Given the description of an element on the screen output the (x, y) to click on. 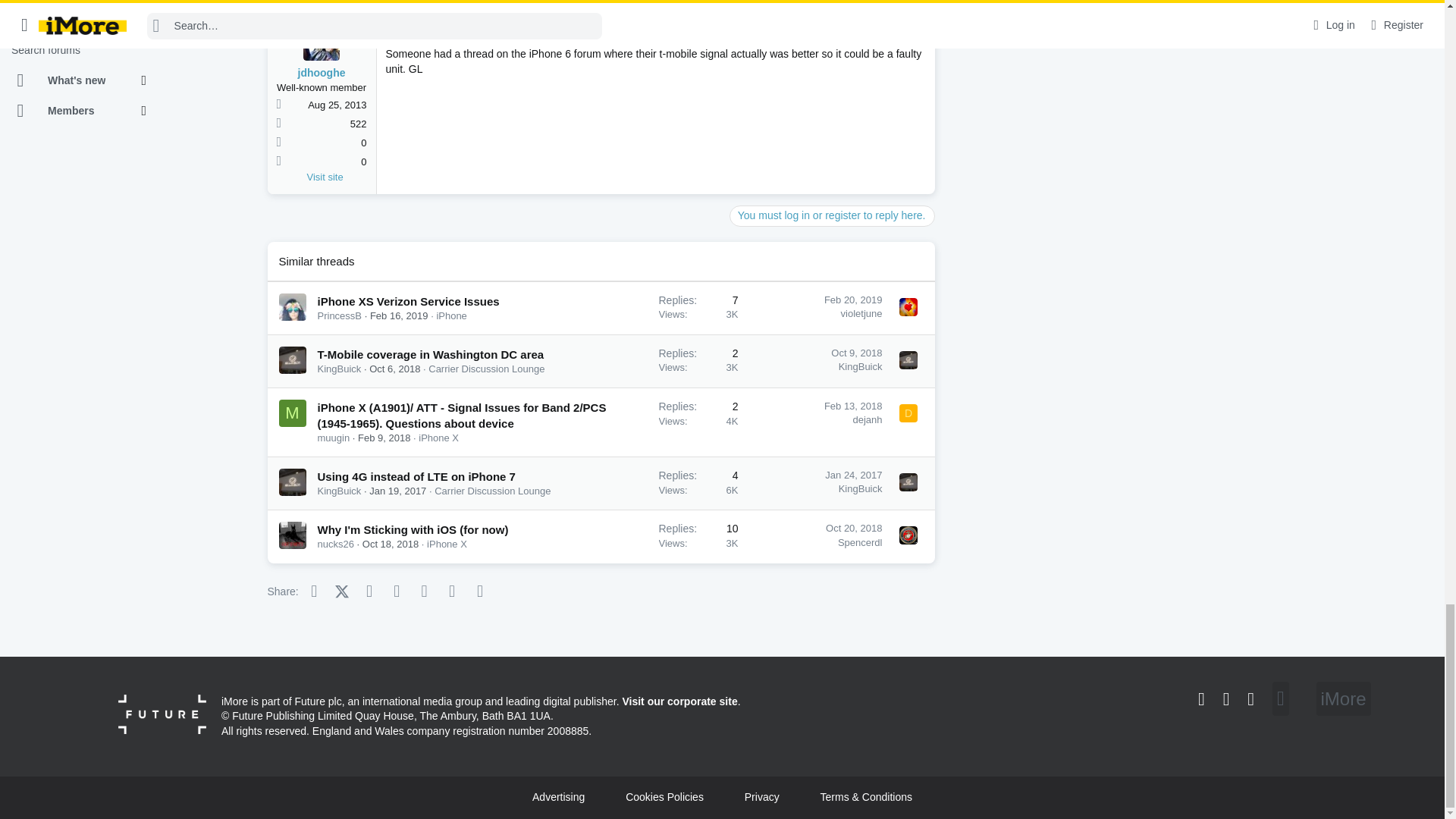
Sep 28, 2014 at 9:24 AM (414, 30)
